Given the description of an element on the screen output the (x, y) to click on. 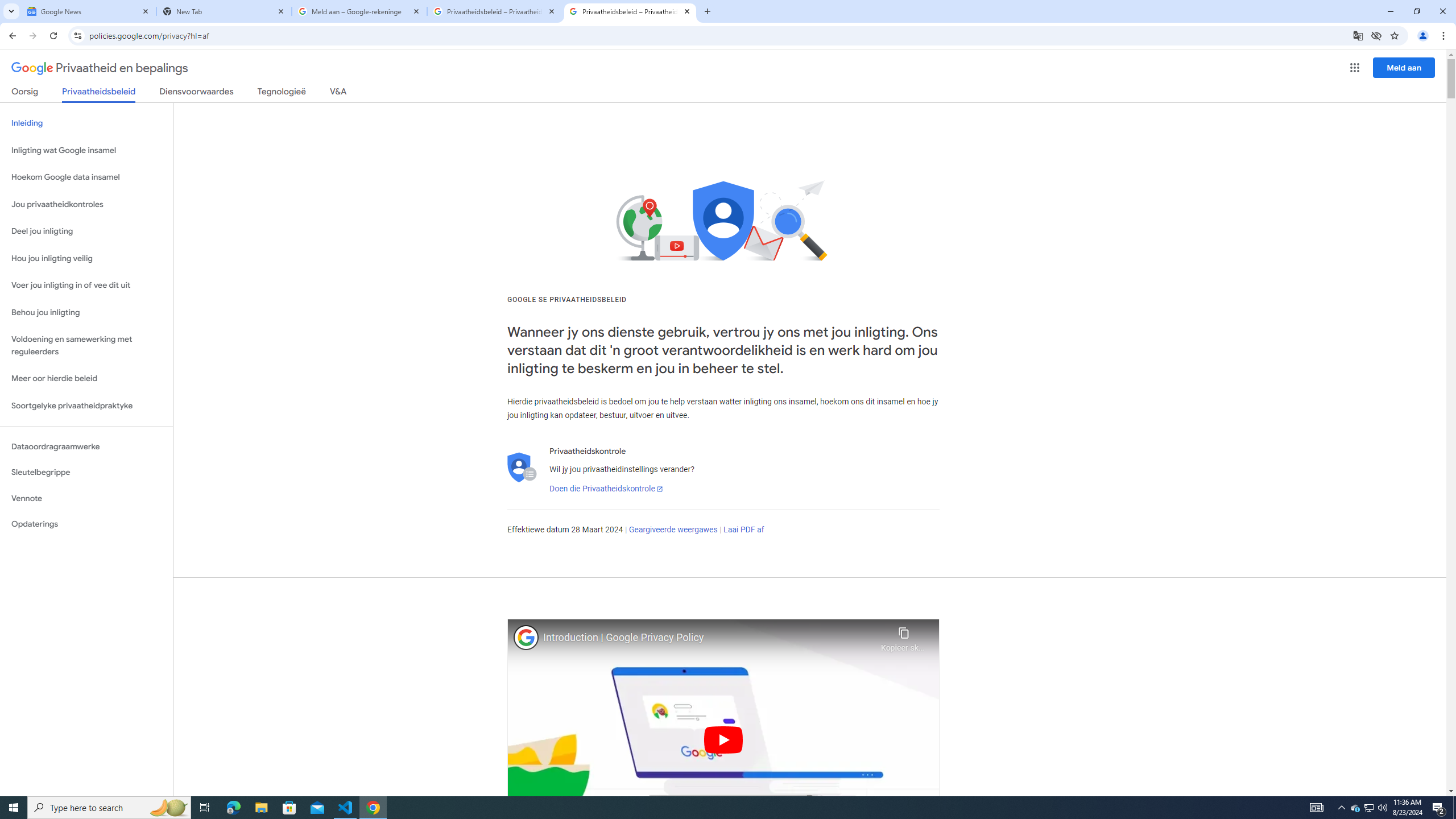
Filter (1400, 179)
Insert Table of Authorities... (986, 72)
Insert Table of Figures... (658, 72)
Previous Paragraph (720, 149)
